Given the description of an element on the screen output the (x, y) to click on. 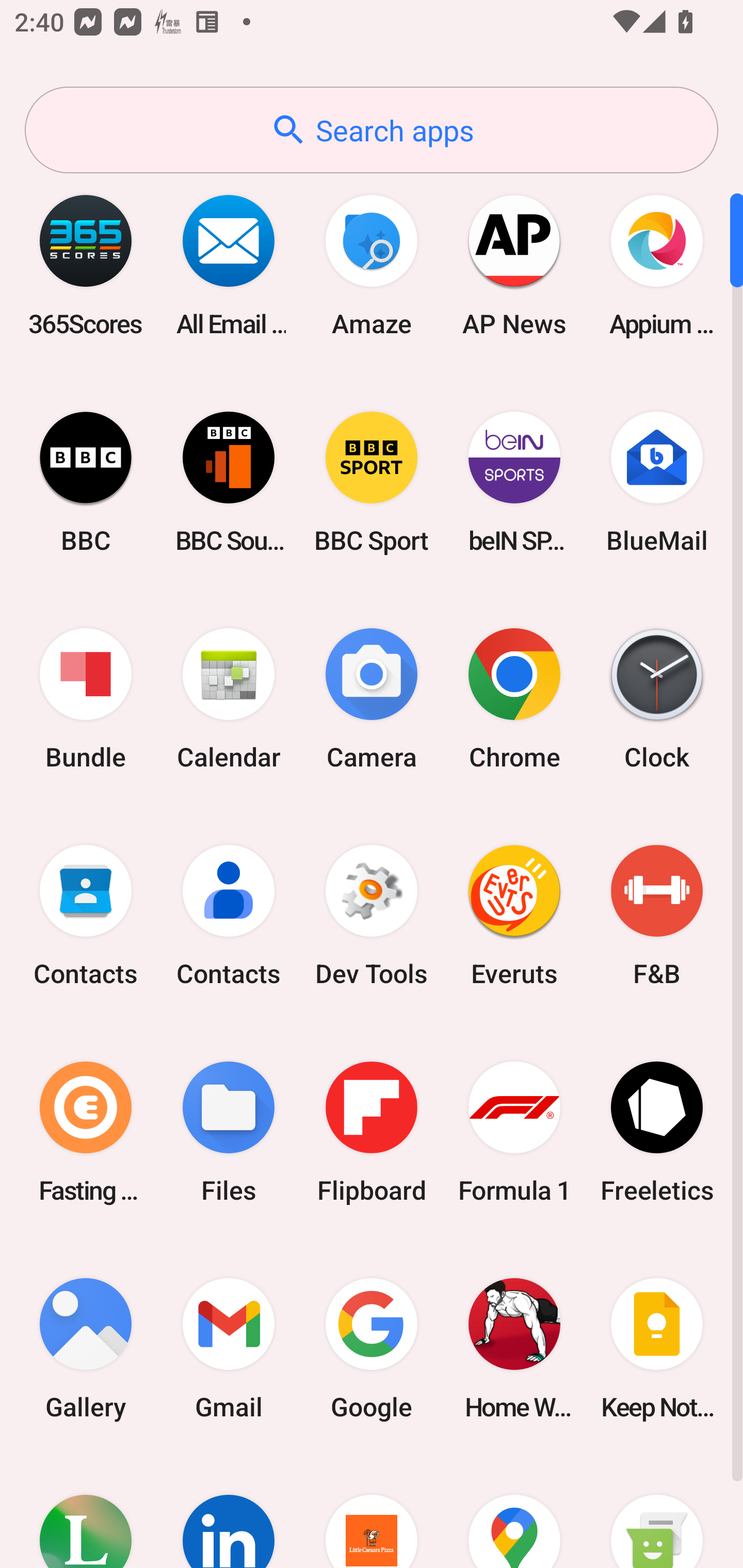
  Search apps (371, 130)
365Scores (85, 264)
All Email Connect (228, 264)
Amaze (371, 264)
AP News (514, 264)
Appium Settings (656, 264)
BBC (85, 482)
BBC Sounds (228, 482)
BBC Sport (371, 482)
beIN SPORTS (514, 482)
BlueMail (656, 482)
Bundle (85, 699)
Calendar (228, 699)
Camera (371, 699)
Chrome (514, 699)
Clock (656, 699)
Contacts (85, 915)
Contacts (228, 915)
Dev Tools (371, 915)
Everuts (514, 915)
F&B (656, 915)
Fasting Coach (85, 1131)
Files (228, 1131)
Flipboard (371, 1131)
Formula 1 (514, 1131)
Freeletics (656, 1131)
Gallery (85, 1348)
Gmail (228, 1348)
Google (371, 1348)
Home Workout (514, 1348)
Keep Notes (656, 1348)
